Given the description of an element on the screen output the (x, y) to click on. 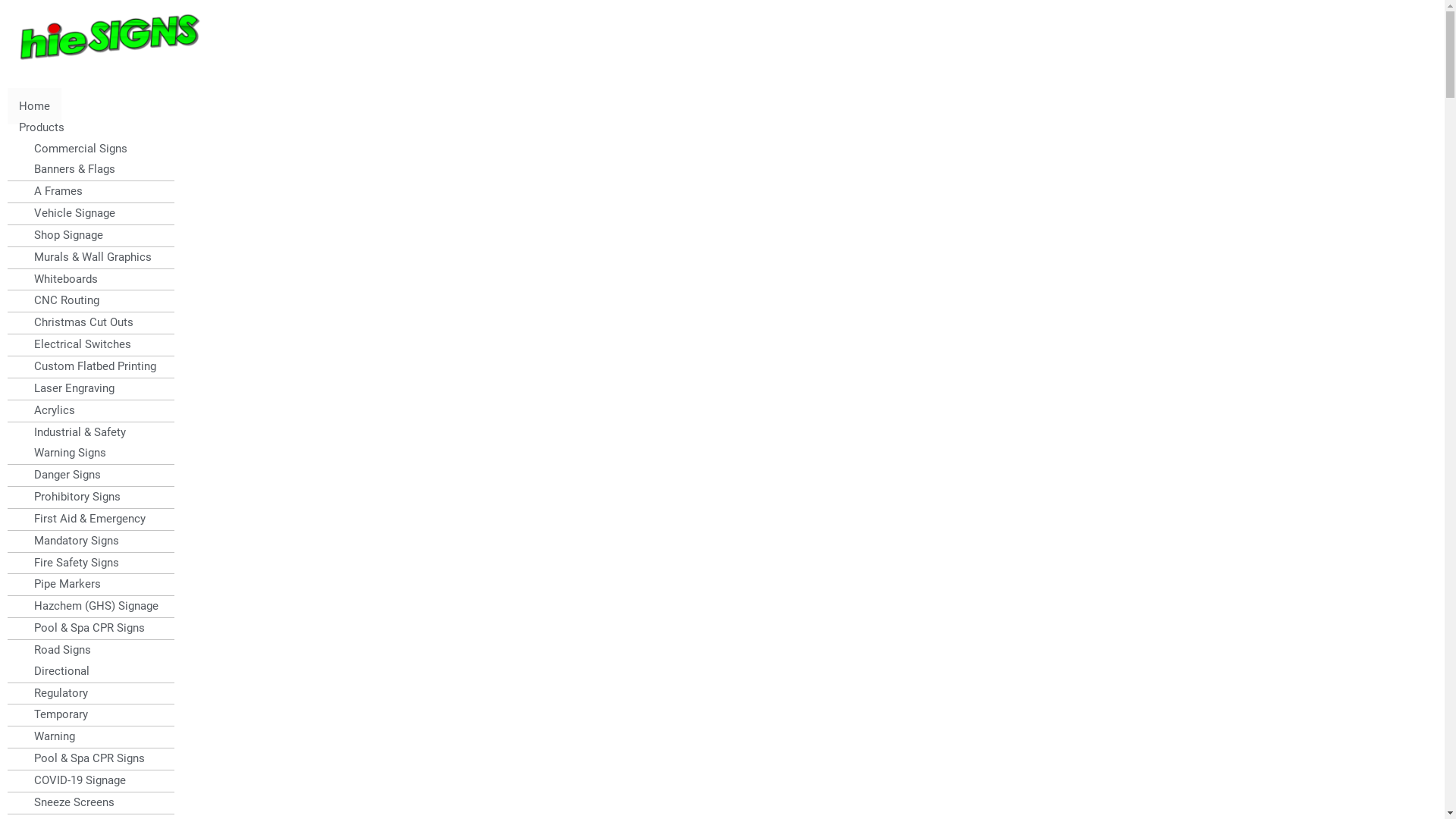
Road Signs Element type: text (54, 649)
Pipe Markers Element type: text (59, 583)
Home Element type: text (34, 105)
Hazchem (GHS) Signage Element type: text (88, 605)
Prohibitory Signs Element type: text (69, 496)
Directional Element type: text (53, 670)
Fire Safety Signs Element type: text (68, 562)
CNC Routing Element type: text (58, 300)
COVID-19 Signage Element type: text (72, 780)
Commercial Signs Element type: text (72, 148)
Warning Element type: text (46, 736)
Christmas Cut Outs Element type: text (75, 322)
Electrical Switches Element type: text (74, 344)
Danger Signs Element type: text (59, 474)
Regulatory Element type: text (53, 692)
Temporary Element type: text (53, 714)
Industrial & Safety Element type: text (72, 432)
Warning Signs Element type: text (62, 452)
Custom Flatbed Printing Element type: text (87, 366)
Pool & Spa CPR Signs Element type: text (81, 627)
A Frames Element type: text (50, 190)
Murals & Wall Graphics Element type: text (85, 256)
Shop Signage Element type: text (60, 234)
Mandatory Signs Element type: text (68, 540)
Pool & Spa CPR Signs Element type: text (81, 758)
Banners & Flags Element type: text (66, 168)
Products Element type: text (41, 127)
Vehicle Signage Element type: text (66, 212)
Whiteboards Element type: text (58, 278)
First Aid & Emergency Element type: text (81, 518)
Laser Engraving Element type: text (66, 388)
Acrylics Element type: text (46, 410)
